Given the description of an element on the screen output the (x, y) to click on. 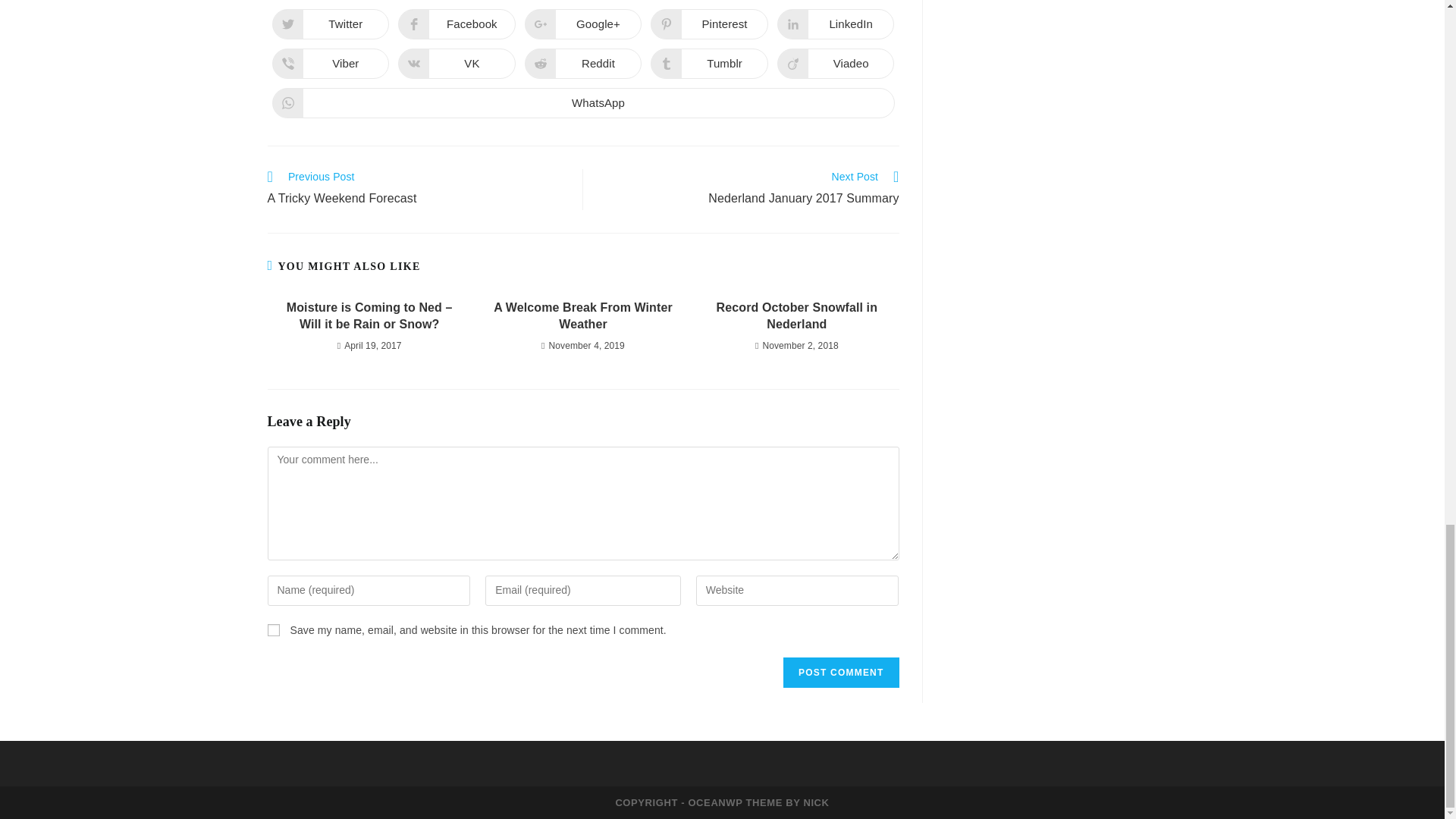
Post Comment (581, 102)
yes (840, 672)
